Given the description of an element on the screen output the (x, y) to click on. 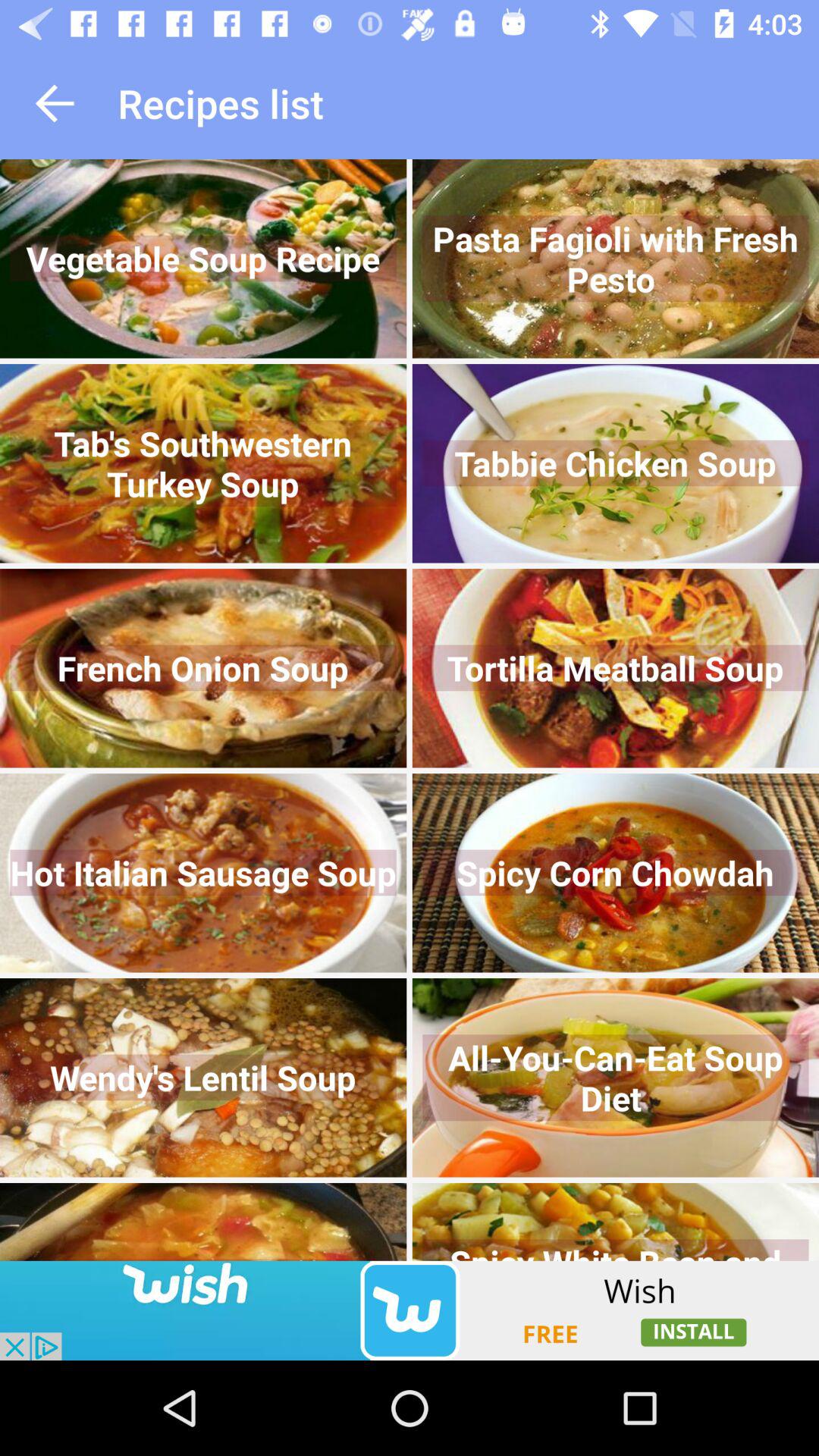
go to previous (54, 103)
